Given the description of an element on the screen output the (x, y) to click on. 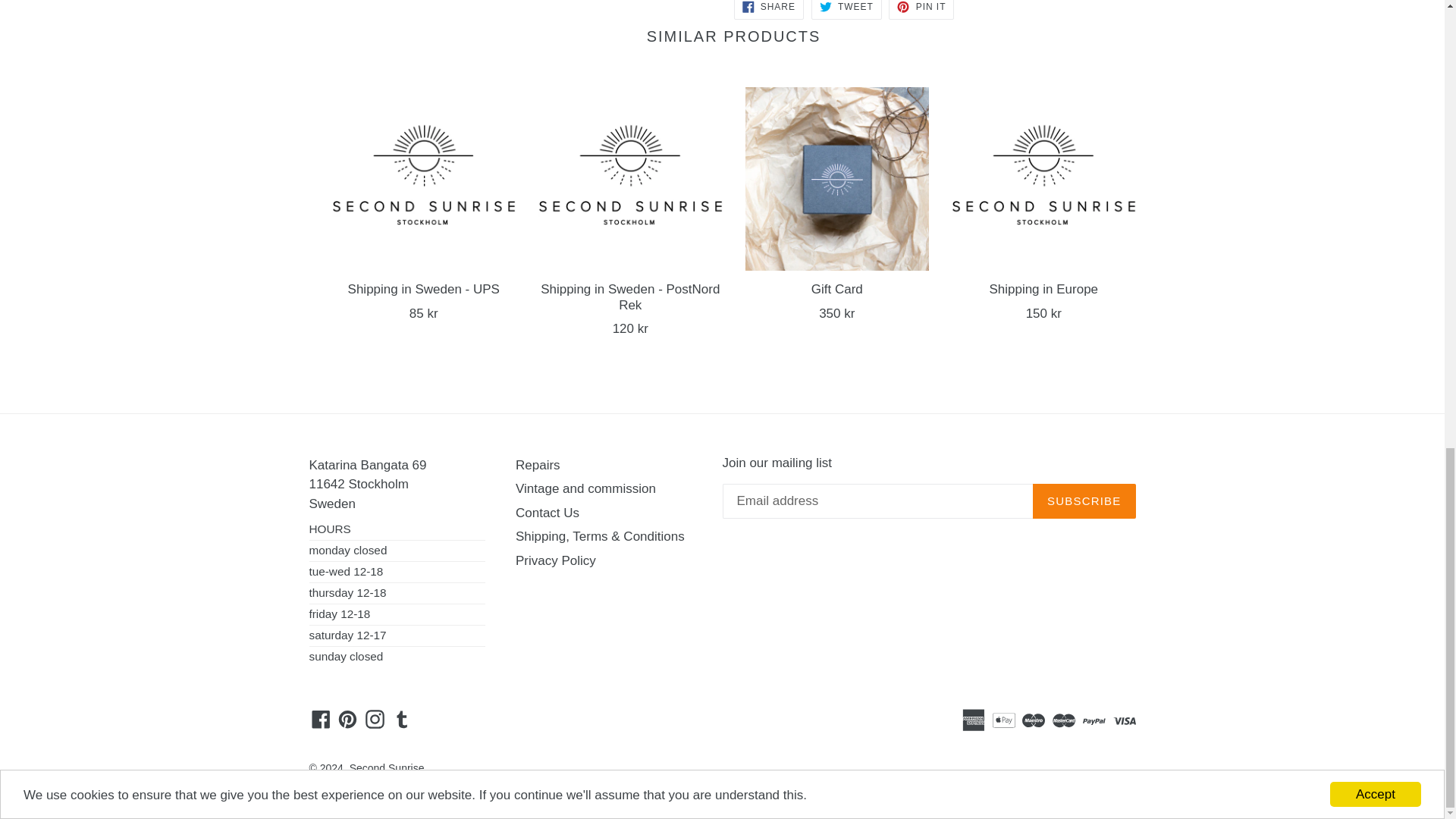
Share on Facebook (768, 9)
Second Sunrise on Instagram (374, 718)
Second Sunrise on Facebook (320, 718)
Tweet on Twitter (846, 9)
Second Sunrise on Pinterest (347, 718)
Second Sunrise on Tumblr (401, 718)
Pin on Pinterest (920, 9)
